Given the description of an element on the screen output the (x, y) to click on. 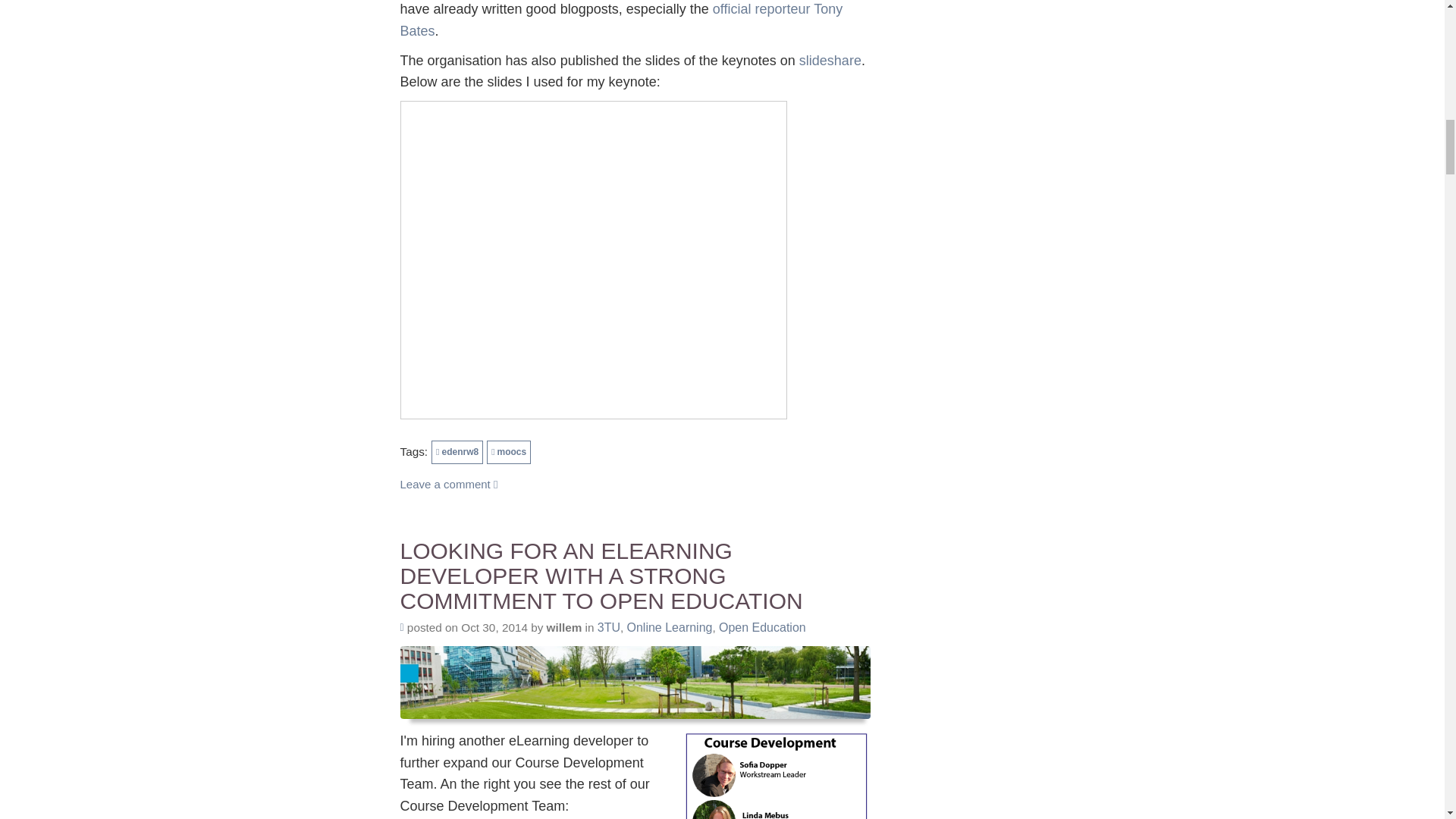
Browse category (668, 626)
Browse category (762, 626)
Browse category (608, 626)
